Given the description of an element on the screen output the (x, y) to click on. 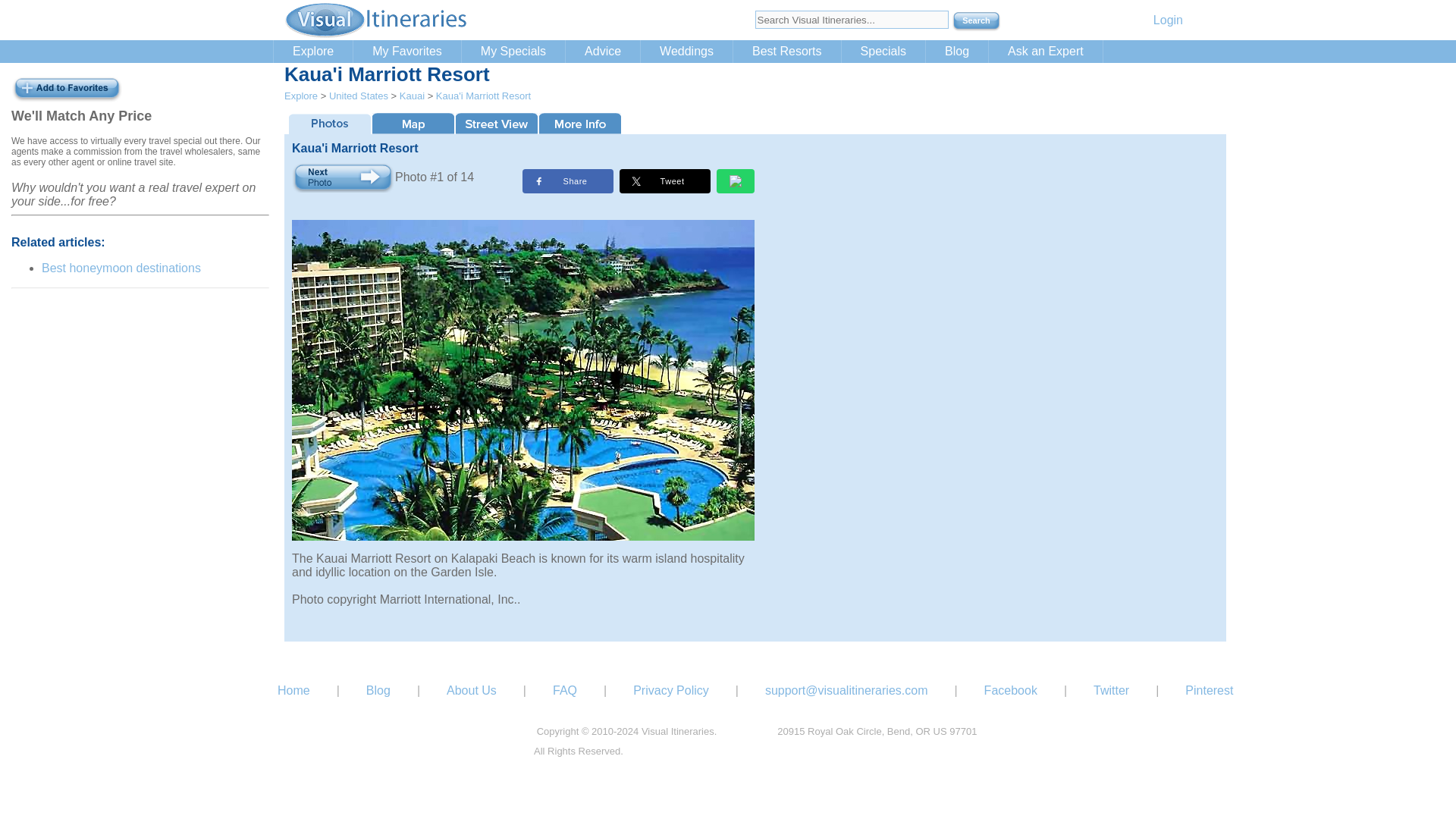
Search (976, 21)
Search (976, 21)
Explore (312, 51)
Advice (603, 51)
Login (1167, 19)
My Specials (512, 51)
My Favorites (407, 51)
